Given the description of an element on the screen output the (x, y) to click on. 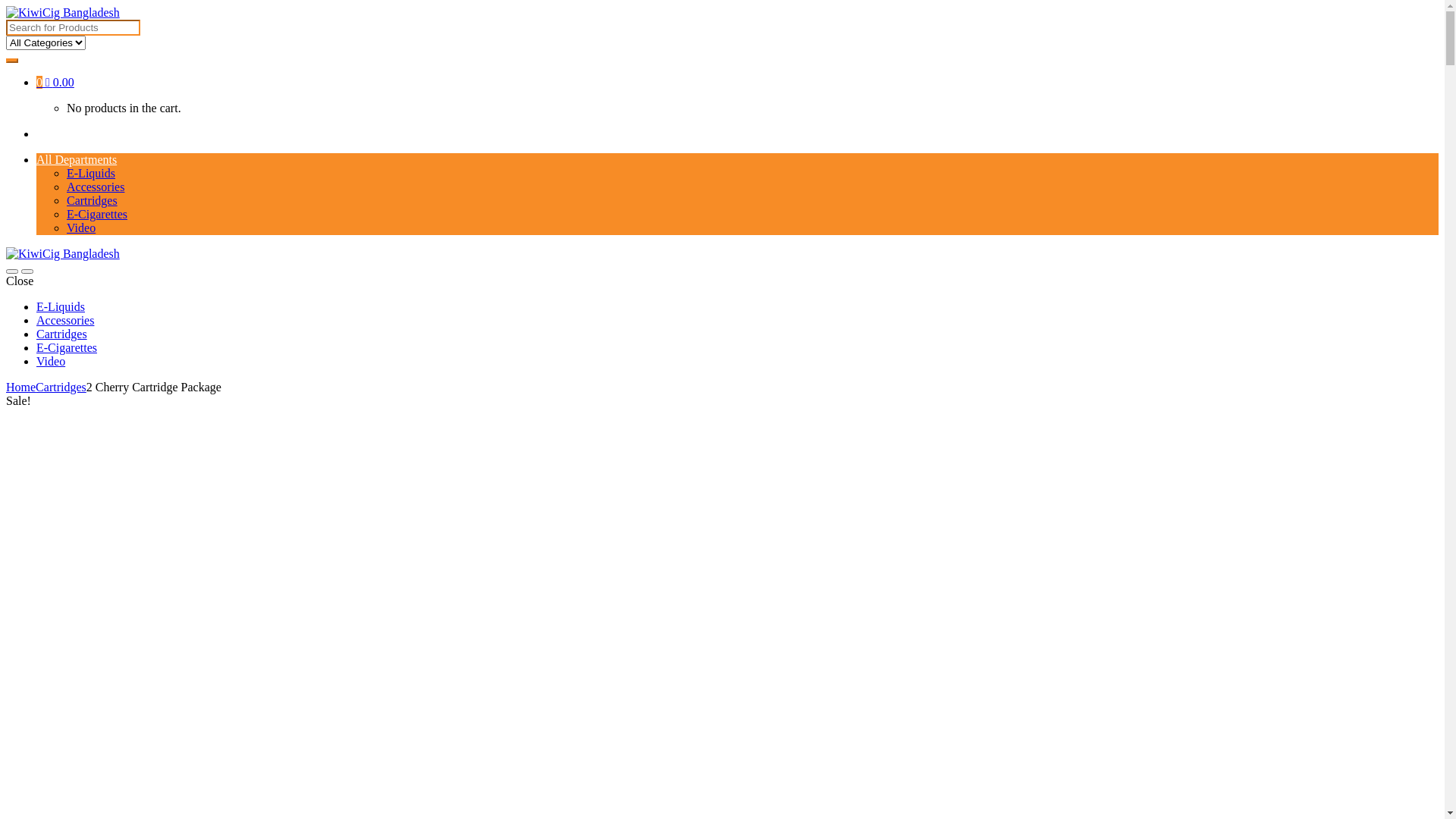
All Departments Element type: text (76, 159)
Cartridges Element type: text (91, 200)
Accessories Element type: text (65, 319)
Accessories Element type: text (95, 186)
Video Element type: text (80, 227)
E-Liquids Element type: text (60, 306)
Cartridges Element type: text (60, 386)
Cartridges Element type: text (61, 333)
Skip to navigation Element type: text (5, 5)
Home Element type: text (20, 386)
Video Element type: text (50, 360)
E-Liquids Element type: text (90, 172)
E-Cigarettes Element type: text (96, 213)
E-Cigarettes Element type: text (66, 347)
